Given the description of an element on the screen output the (x, y) to click on. 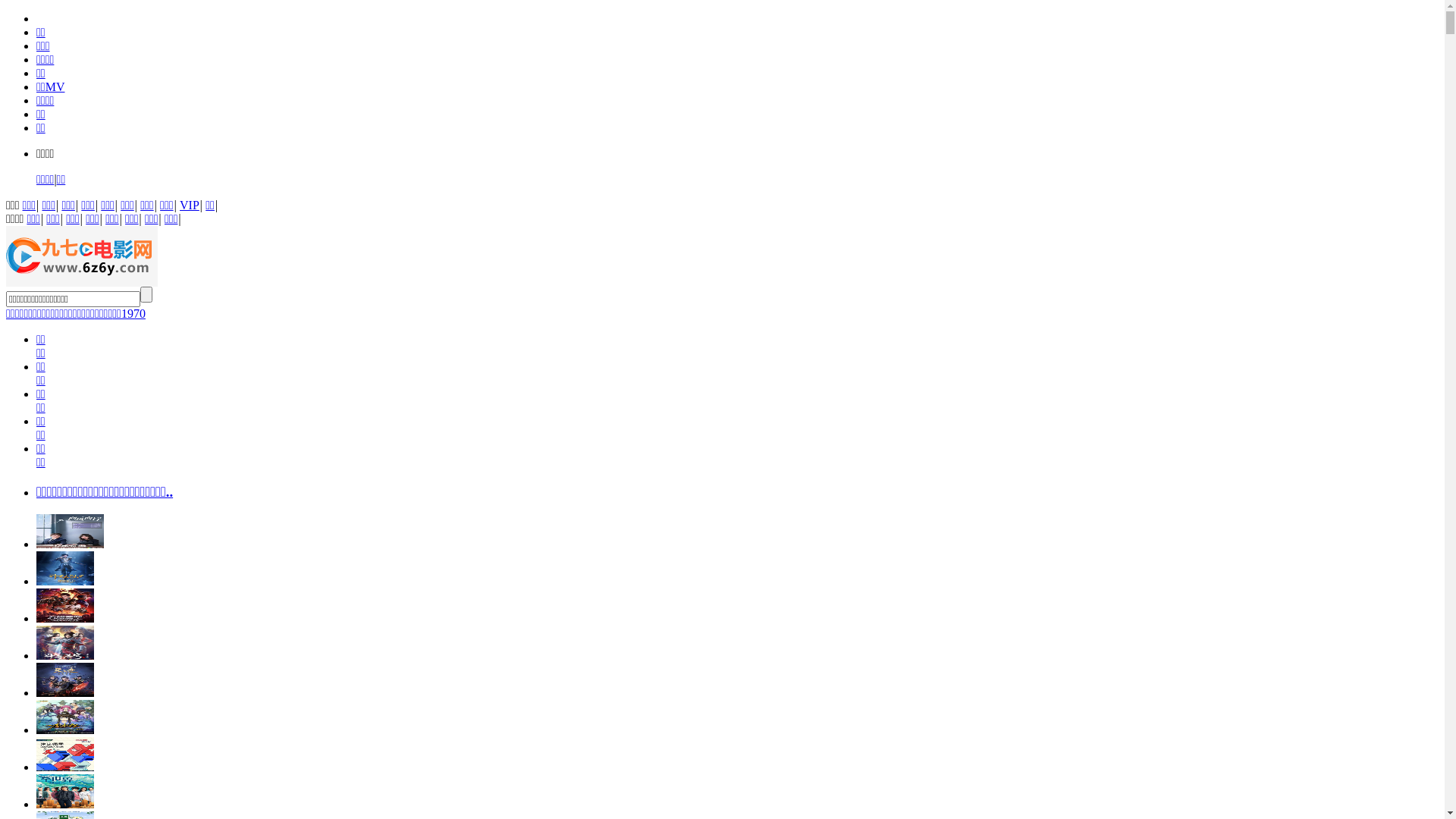
VIP Element type: text (189, 204)
